Given the description of an element on the screen output the (x, y) to click on. 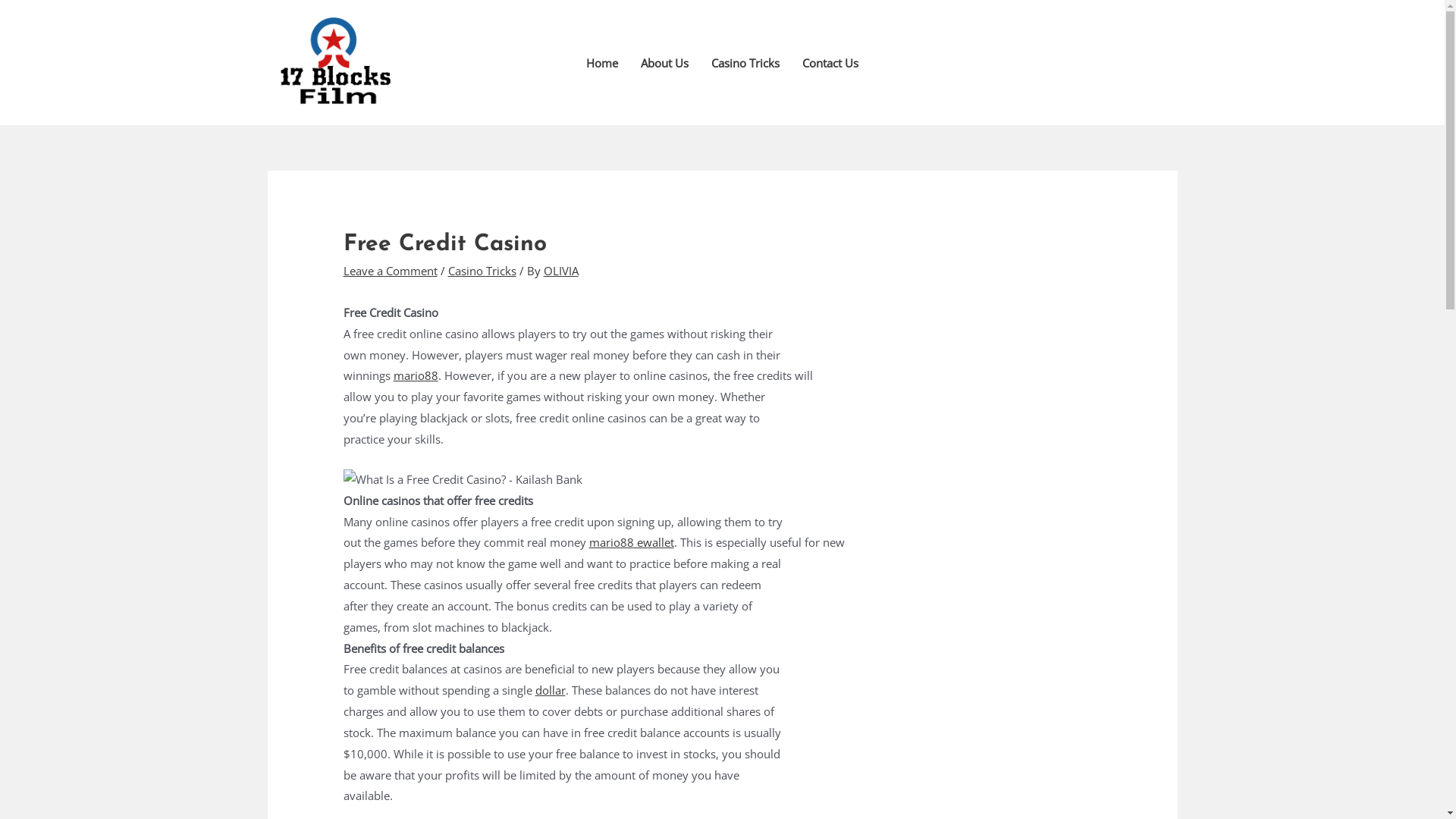
Casino Tricks Element type: text (482, 270)
About Us Element type: text (664, 62)
Leave a Comment Element type: text (390, 270)
mario88 Element type: text (415, 374)
Contact Us Element type: text (829, 62)
Casino Tricks Element type: text (744, 62)
OLIVIA Element type: text (560, 270)
mario88 ewallet Element type: text (631, 541)
Home Element type: text (601, 62)
dollar Element type: text (550, 689)
